Given the description of an element on the screen output the (x, y) to click on. 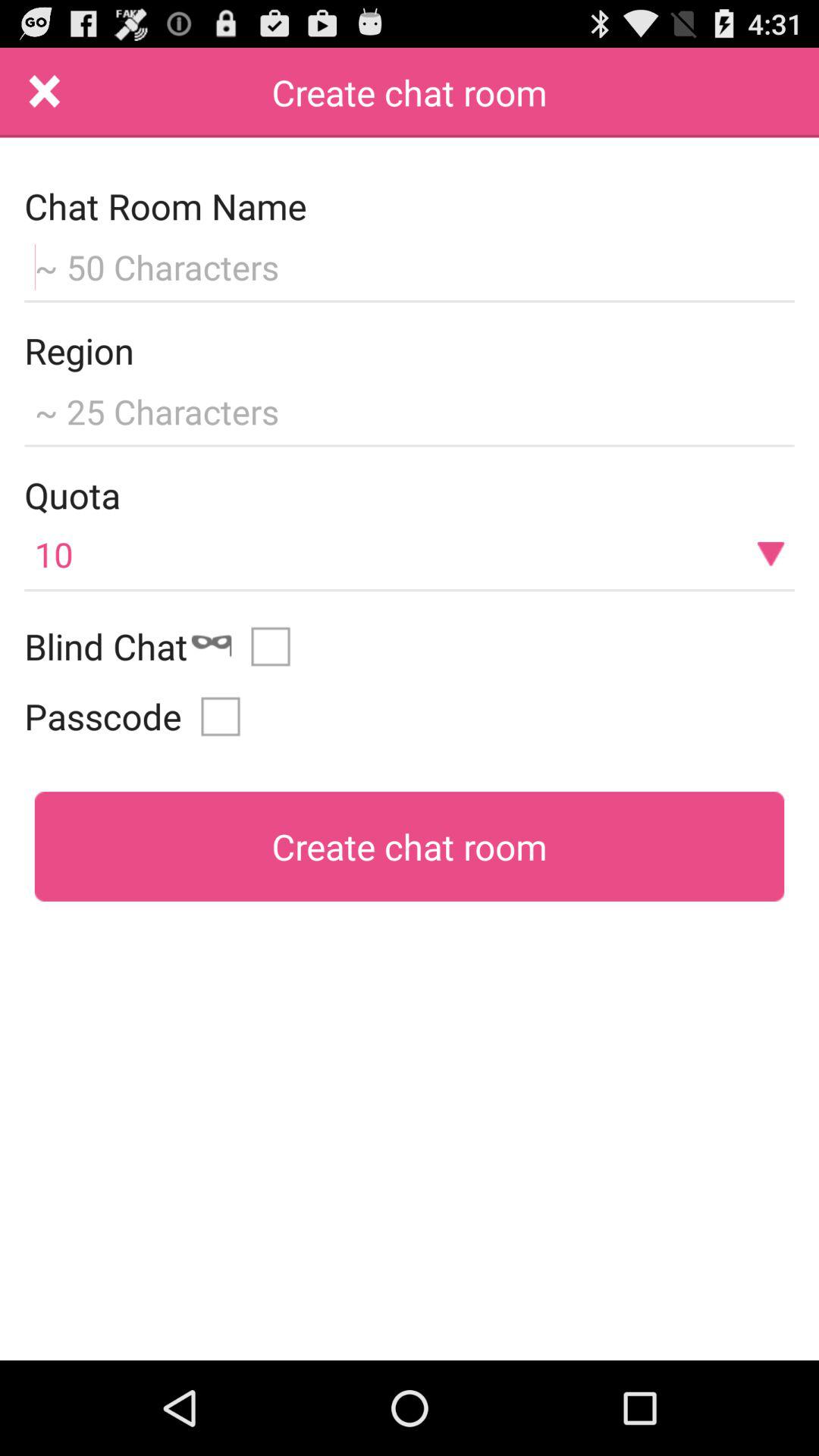
type chat room name (409, 265)
